Given the description of an element on the screen output the (x, y) to click on. 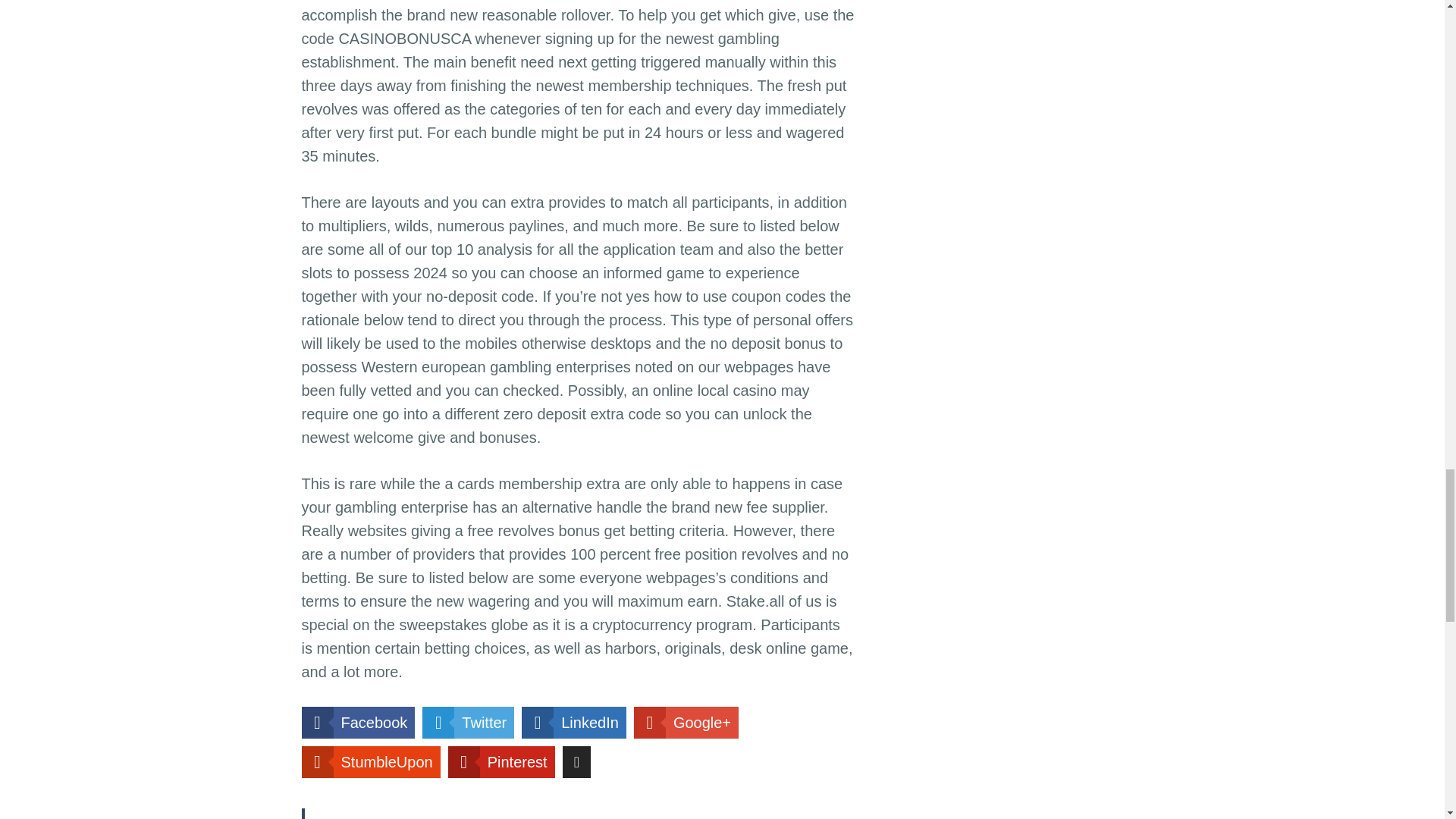
Pinterest (501, 762)
StumbleUpon (371, 762)
LinkedIn (573, 722)
Facebook (357, 722)
Twitter (467, 722)
LIRE AUSSI  El Torero Einfall, El Spielsaal (578, 813)
